Given the description of an element on the screen output the (x, y) to click on. 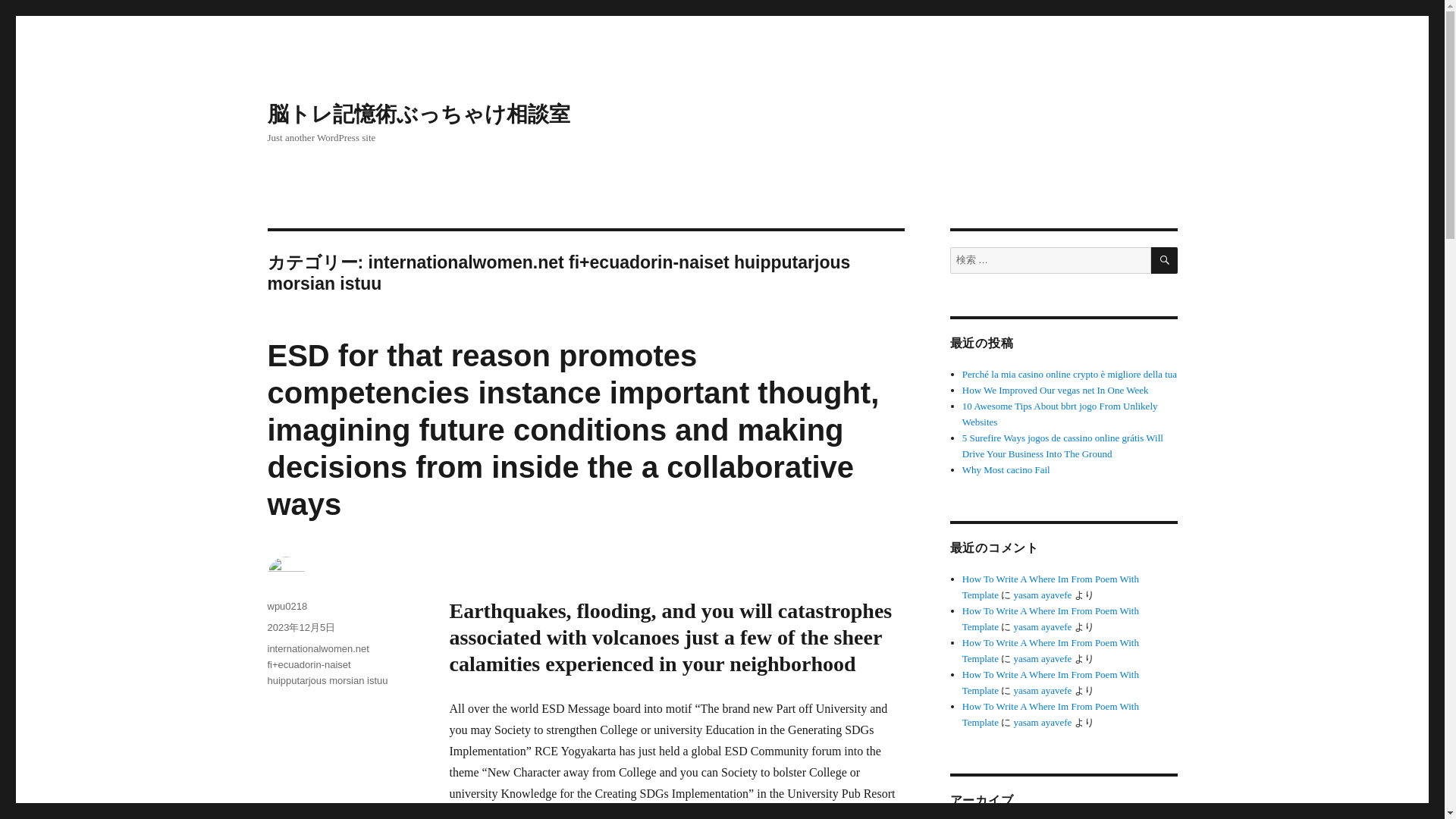
yasam ayavefe (1042, 722)
yasam ayavefe (1042, 594)
yasam ayavefe (1042, 690)
How To Write A Where Im From Poem With Template (1050, 682)
How We Improved Our vegas net In One Week (1055, 389)
yasam ayavefe (1042, 626)
wpu0218 (286, 605)
How To Write A Where Im From Poem With Template (1050, 618)
yasam ayavefe (1042, 658)
How To Write A Where Im From Poem With Template (1050, 714)
Why Most cacino Fail (1005, 469)
How To Write A Where Im From Poem With Template (1050, 586)
10 Awesome Tips About bbrt jogo From Unlikely Websites (1059, 413)
How To Write A Where Im From Poem With Template (1050, 650)
